Given the description of an element on the screen output the (x, y) to click on. 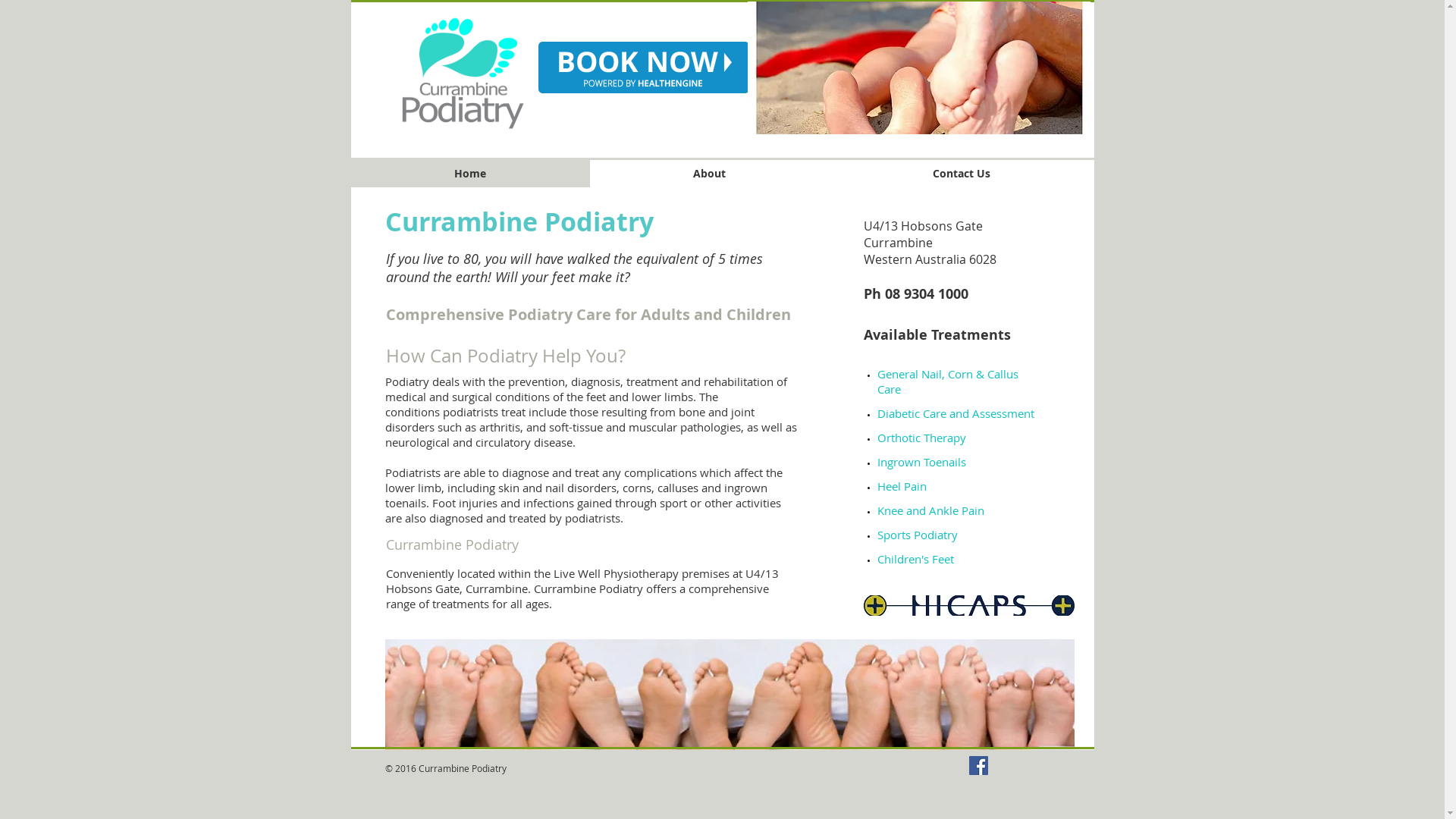
Home Element type: text (469, 173)
S Element type: text (879, 534)
G Element type: text (880, 373)
Embedded Content Element type: hover (752, 282)
About Element type: text (709, 173)
podiatry01 (8).png Element type: hover (464, 73)
Contact Us Element type: text (961, 173)
H Element type: text (880, 485)
